Given the description of an element on the screen output the (x, y) to click on. 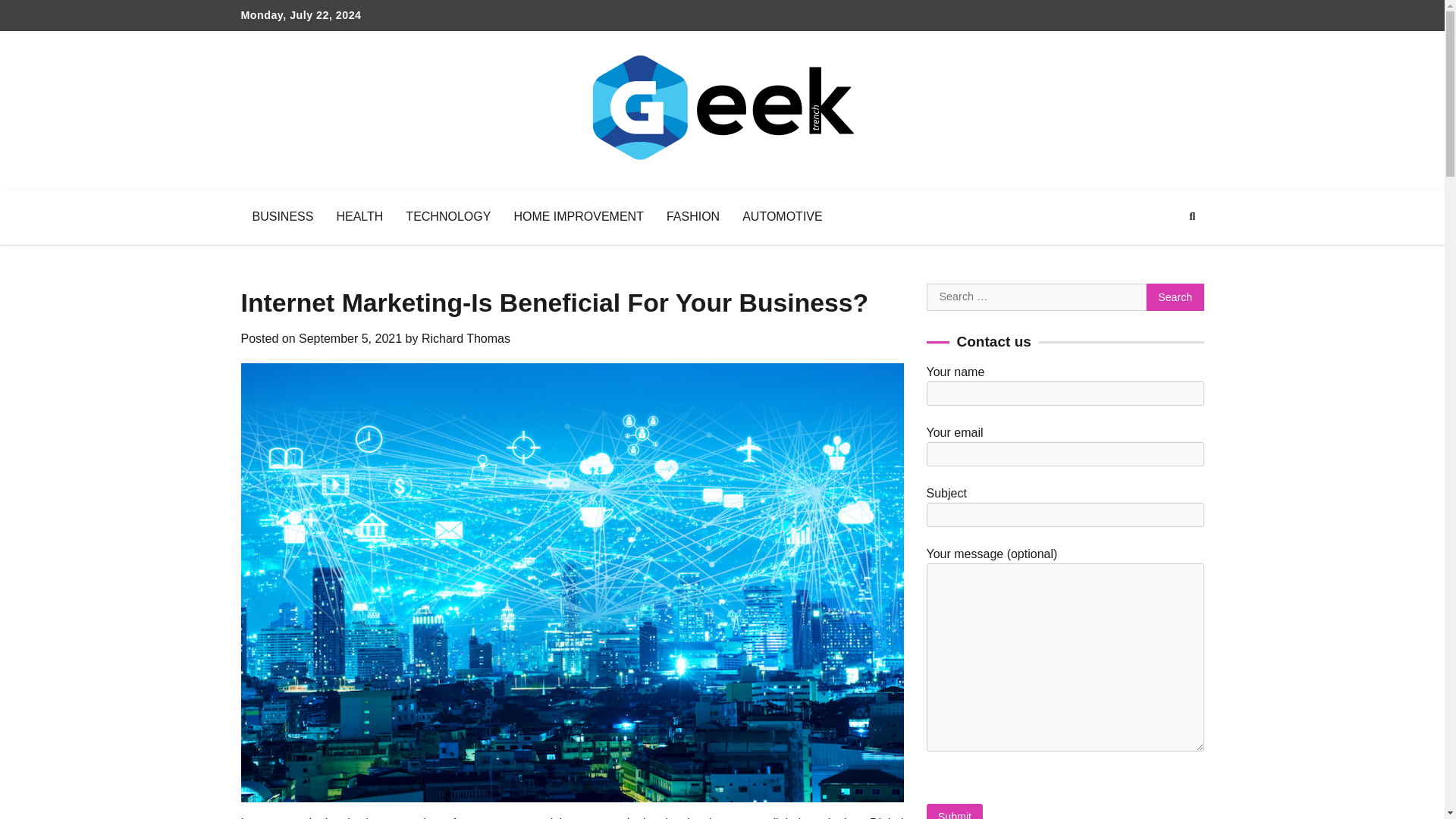
Submit (955, 811)
Submit (955, 811)
Search (1175, 297)
AUTOMOTIVE (782, 216)
BUSINESS (282, 216)
Search (1175, 297)
TECHNOLOGY (448, 216)
September 5, 2021 (349, 338)
Search (1175, 297)
HOME IMPROVEMENT (578, 216)
HEALTH (359, 216)
Richard Thomas (466, 338)
FASHION (692, 216)
Search (1192, 216)
Search (1164, 252)
